Given the description of an element on the screen output the (x, y) to click on. 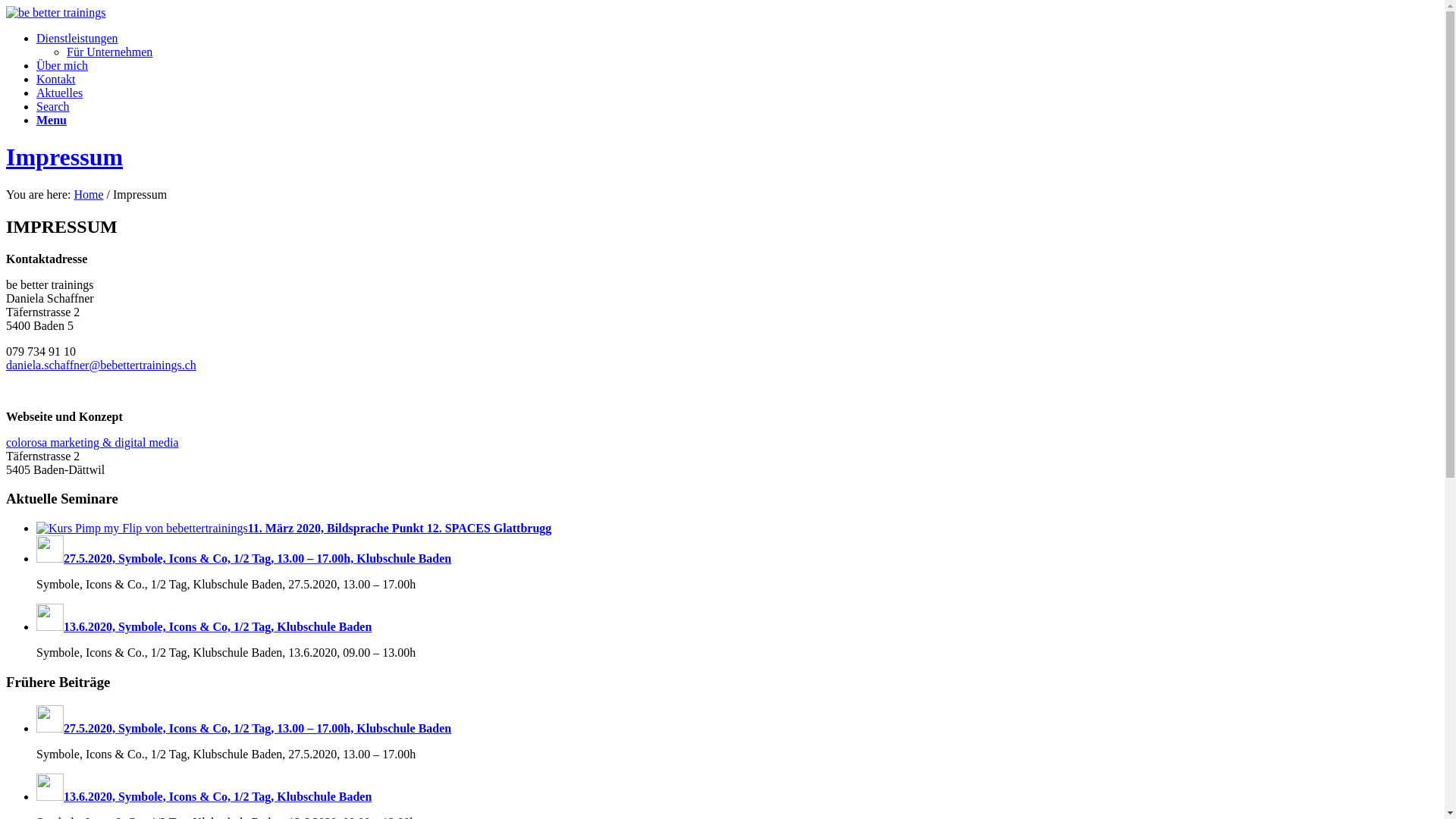
daniela.schaffner@bebettertrainings.ch Element type: text (101, 364)
Kontakt Element type: text (55, 78)
Search Element type: text (52, 106)
Home Element type: text (88, 194)
Impressum Element type: text (64, 156)
Menu Element type: text (51, 119)
Aktuelles Element type: text (59, 92)
13.6.2020, Symbole, Icons & Co, 1/2 Tag, Klubschule Baden Element type: text (203, 796)
Dienstleistungen Element type: text (77, 37)
13.6.2020, Symbole, Icons & Co, 1/2 Tag, Klubschule Baden Element type: text (203, 626)
colorosa marketing & digital media Element type: text (92, 442)
